Given the description of an element on the screen output the (x, y) to click on. 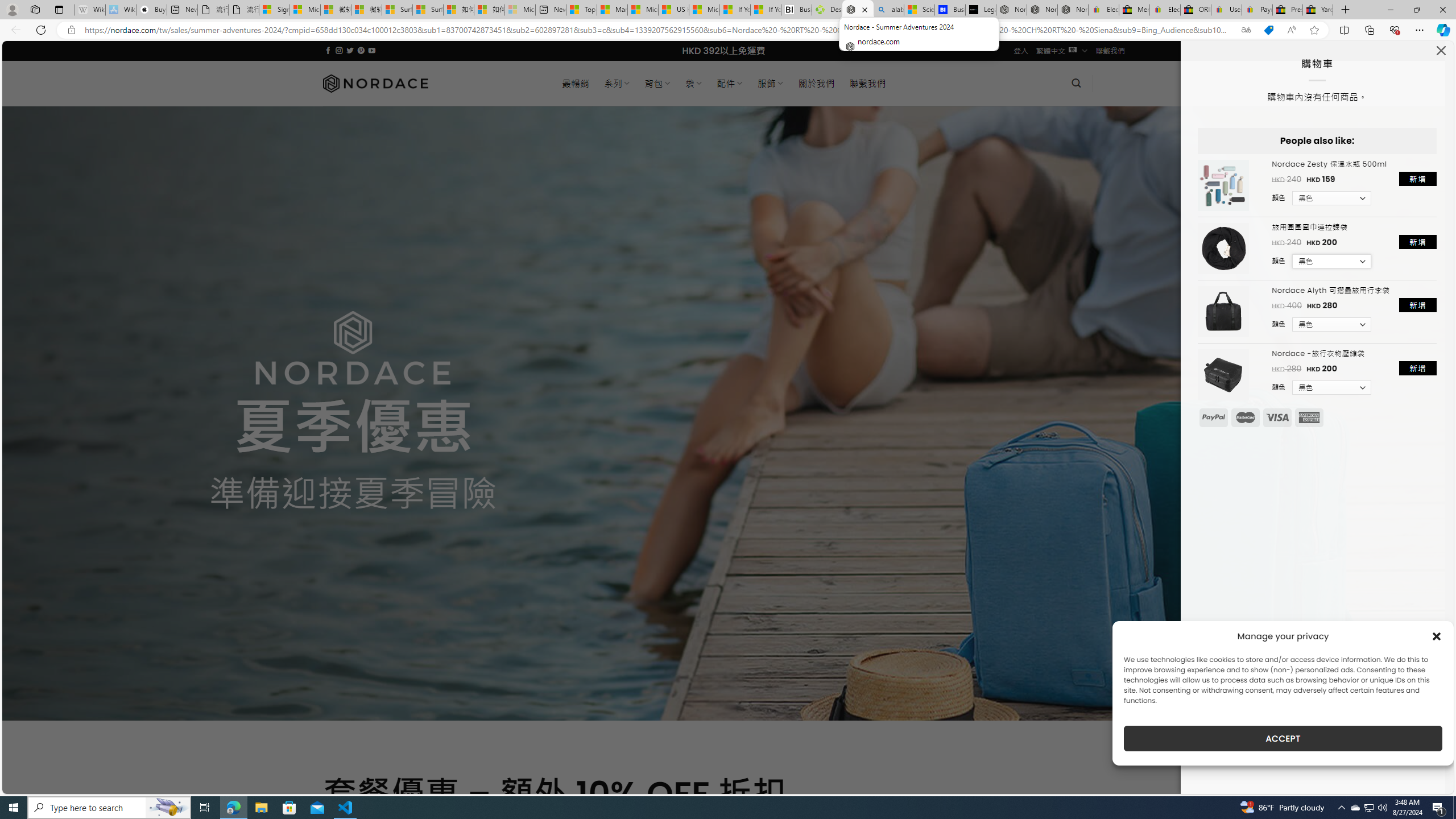
Follow on YouTube (371, 50)
